Given the description of an element on the screen output the (x, y) to click on. 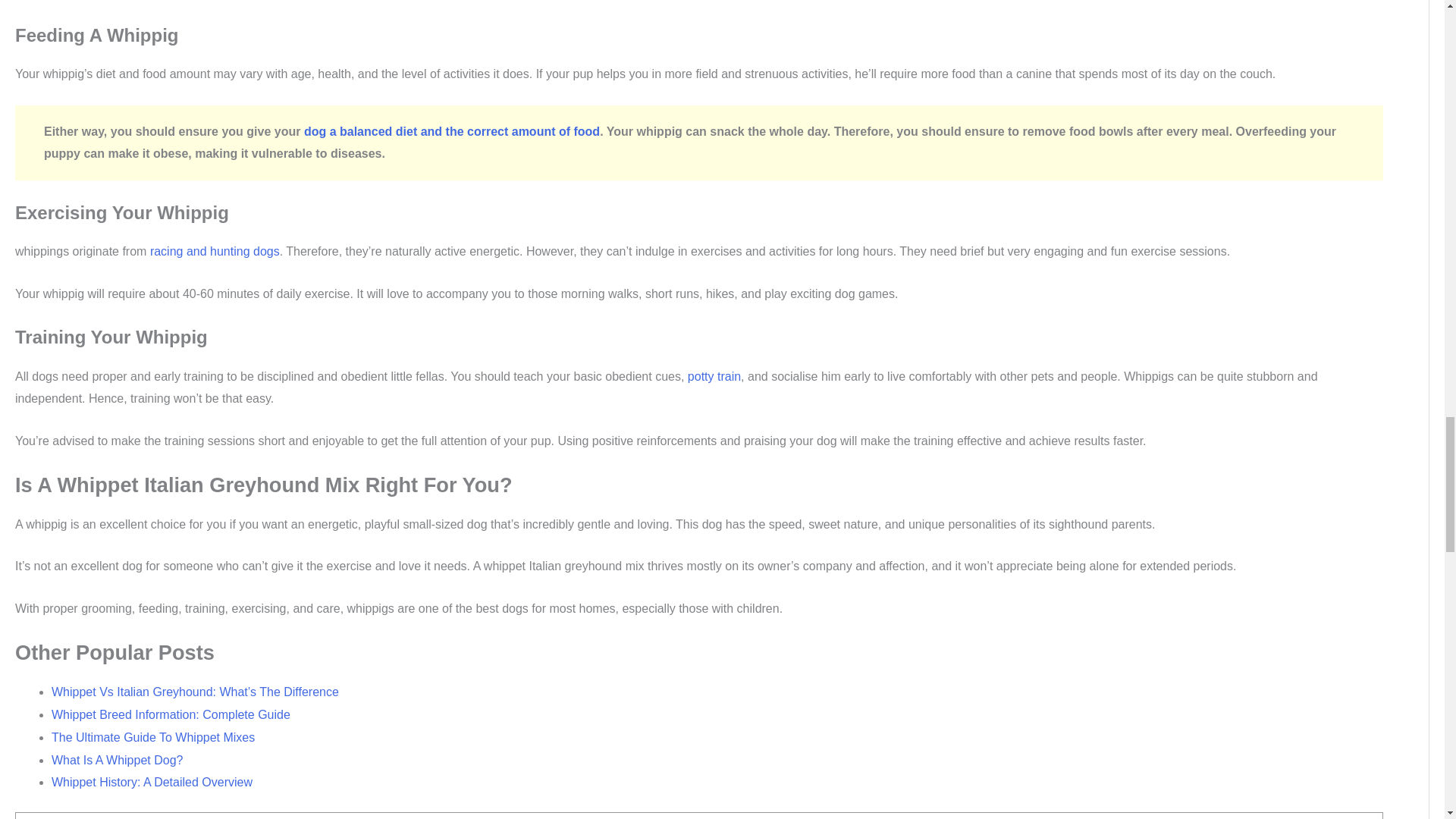
racing and hunting dogs (214, 250)
dog a balanced diet and the correct amount of food (451, 131)
potty train (714, 376)
